Given the description of an element on the screen output the (x, y) to click on. 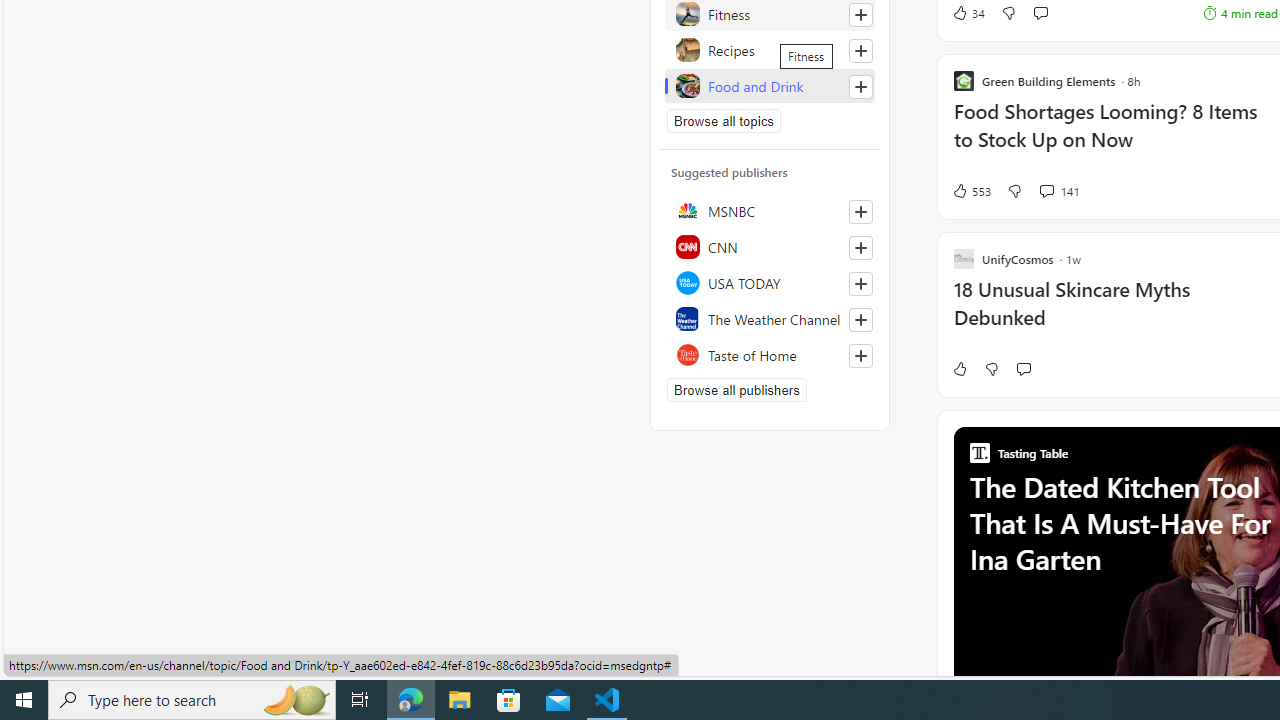
Start the conversation (1023, 368)
Browse all publishers (736, 389)
Like (959, 368)
Food Shortages Looming? 8 Items to Stock Up on Now (1115, 135)
USA TODAY (770, 282)
Follow this source (860, 355)
MSNBC (770, 210)
18 Unusual Skincare Myths Debunked (1115, 313)
553 Like (970, 191)
Dislike (991, 368)
View comments 141 Comment (1059, 191)
Recipes (770, 49)
Browse all topics (724, 120)
